Given the description of an element on the screen output the (x, y) to click on. 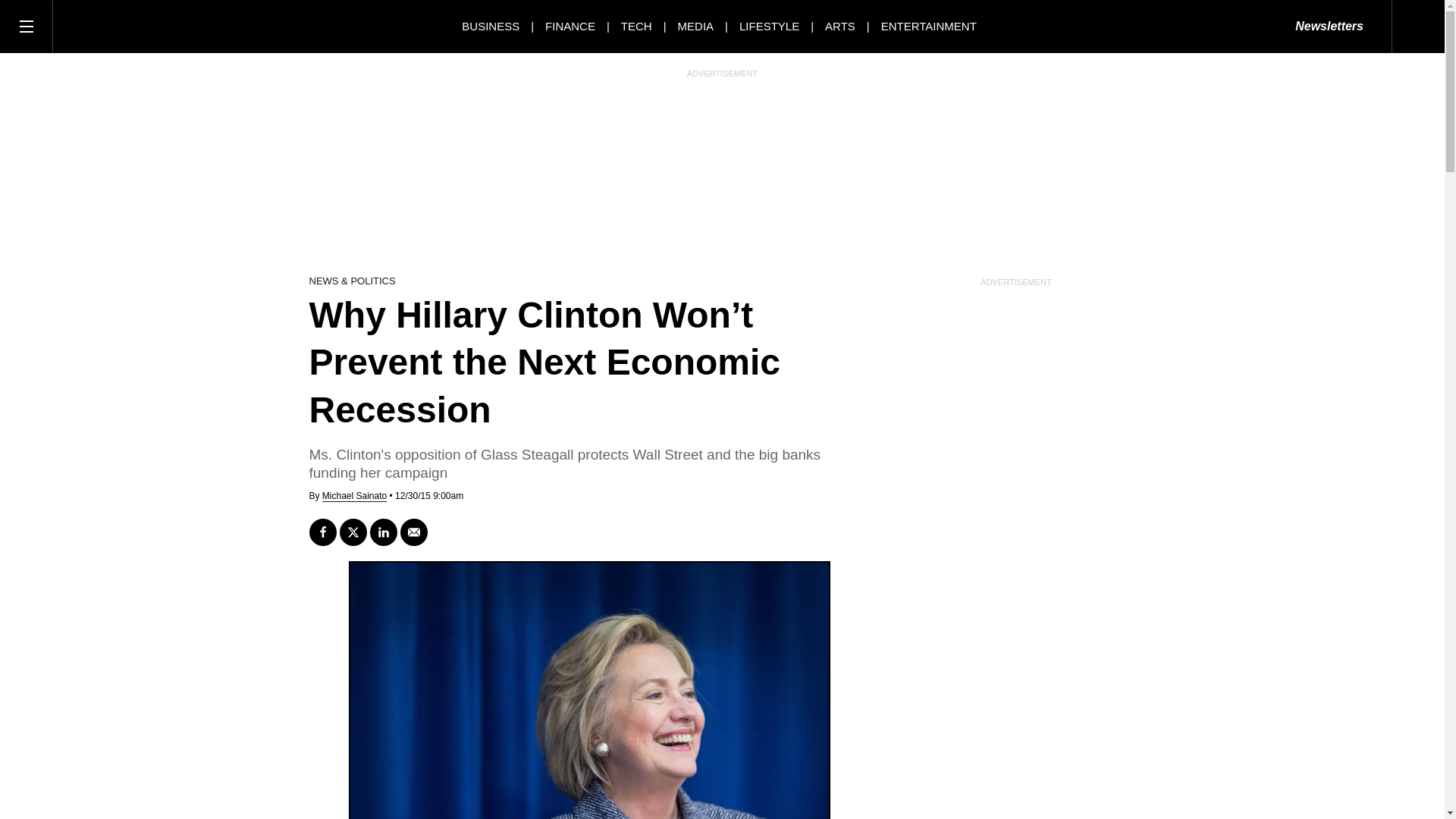
ARTS (840, 25)
LIFESTYLE (769, 25)
Share on LinkedIn (383, 532)
TECH (636, 25)
Tweet (352, 532)
BUSINESS (490, 25)
MEDIA (696, 25)
Observer (121, 26)
Newsletters (1329, 26)
FINANCE (569, 25)
Send email (414, 532)
Share on Facebook (322, 532)
ENTERTAINMENT (928, 25)
View All Posts by Michael Sainato (354, 496)
